Given the description of an element on the screen output the (x, y) to click on. 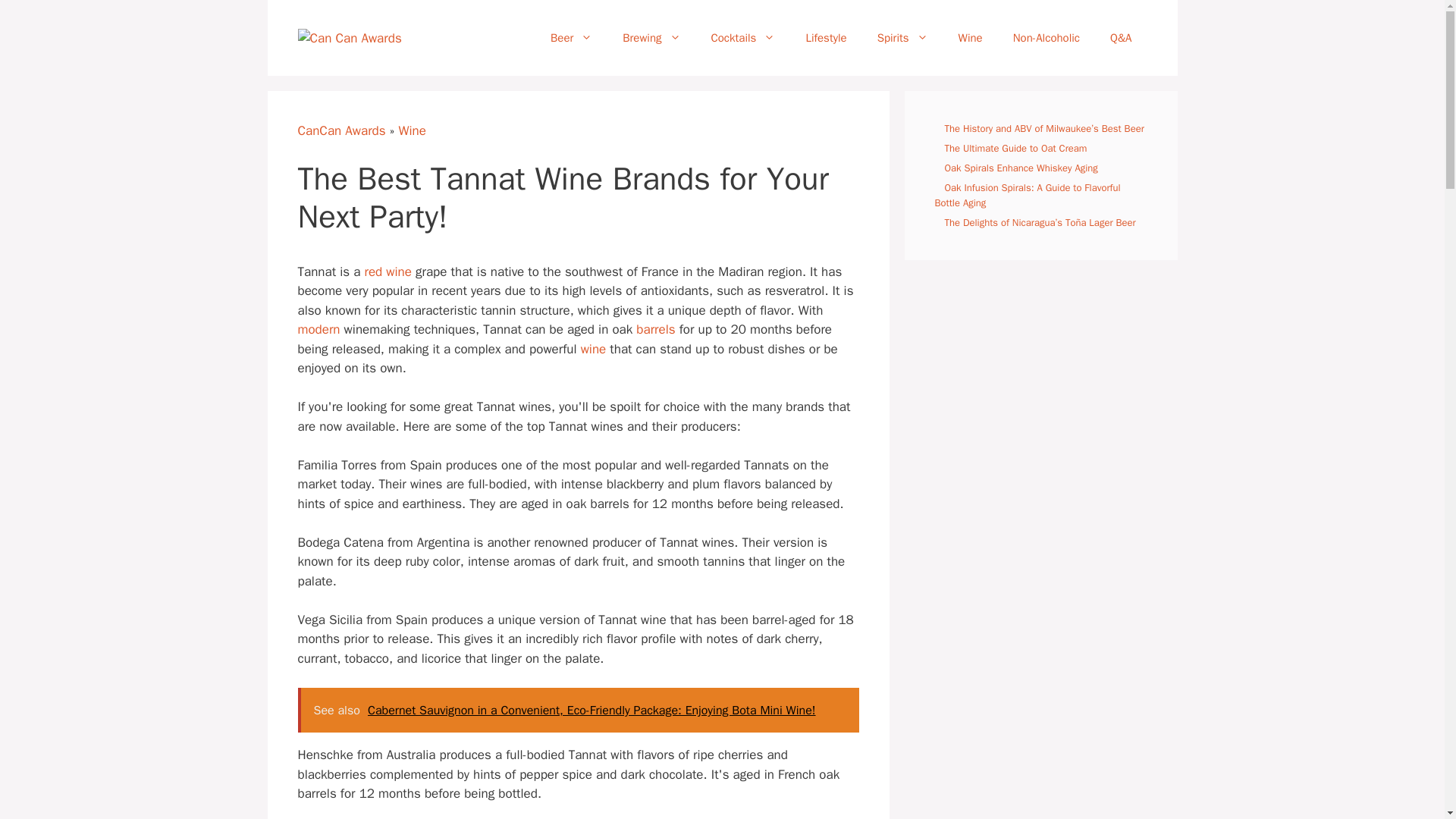
Brewing (651, 37)
Beer (571, 37)
Lifestyle (825, 37)
Non-Alcoholic (1045, 37)
Spirits (902, 37)
Cocktails (742, 37)
Wine (970, 37)
